Given the description of an element on the screen output the (x, y) to click on. 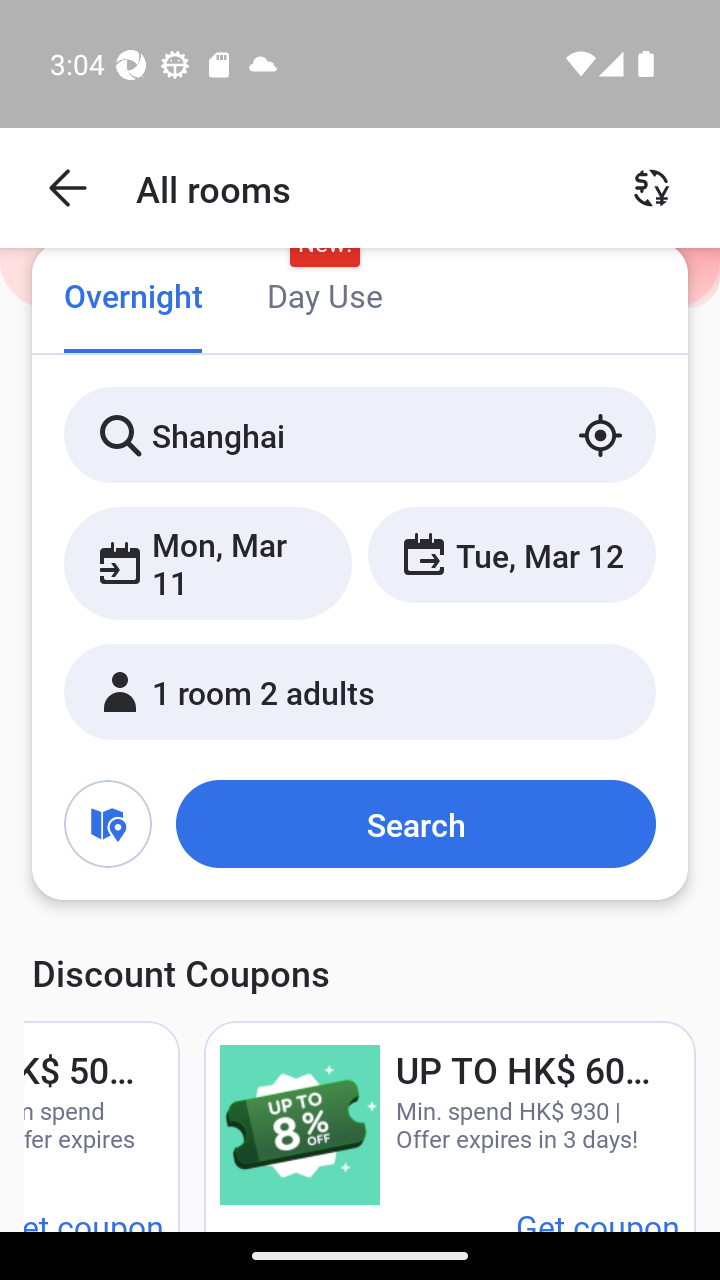
Day Use (324, 298)
Shanghai (359, 434)
Mon, Mar 11 (208, 562)
Tue, Mar 12 (511, 554)
1 room 2 adults (359, 691)
Search (415, 823)
